Given the description of an element on the screen output the (x, y) to click on. 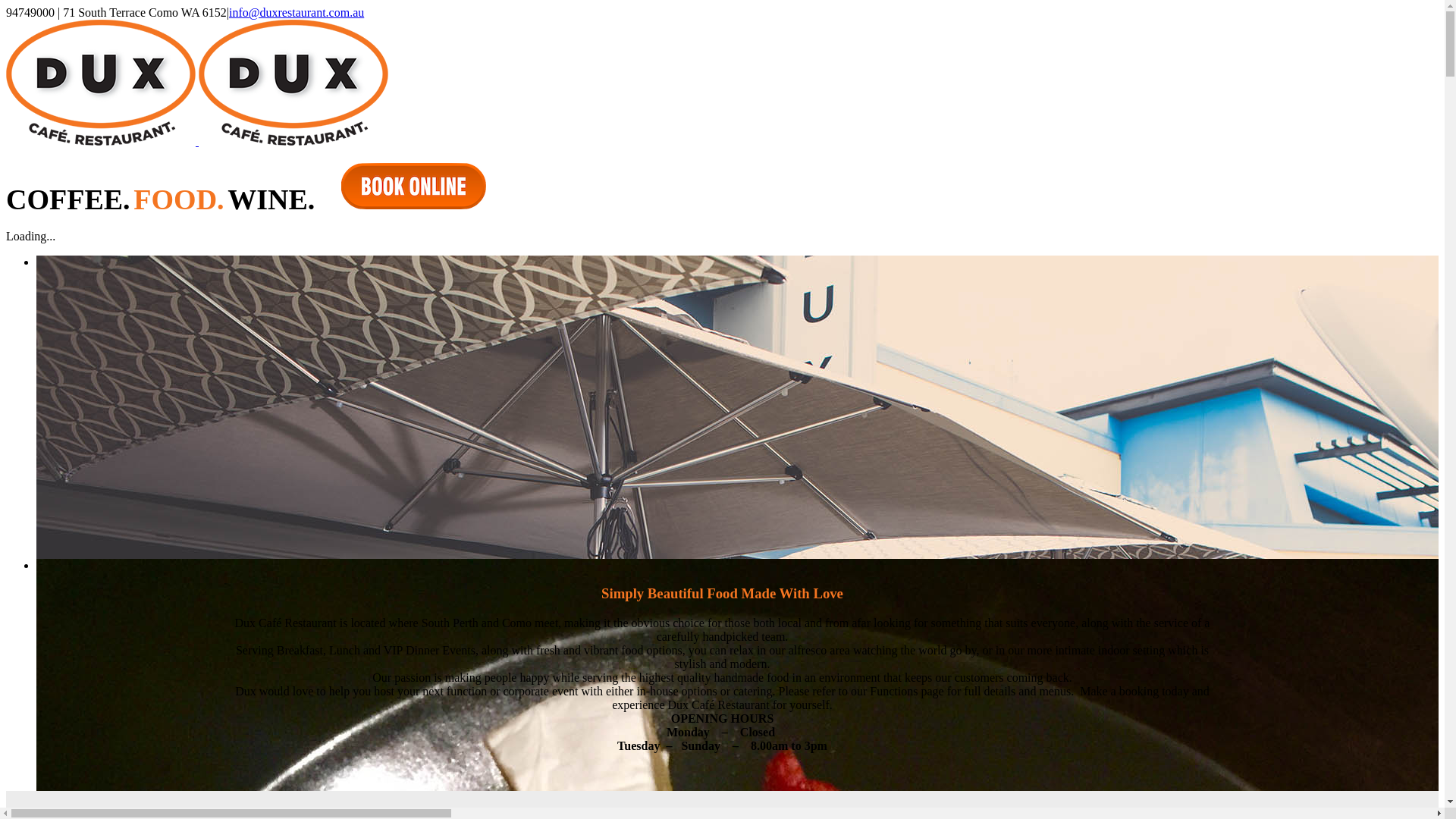
info@duxrestaurant.com.au Element type: text (296, 12)
